Given the description of an element on the screen output the (x, y) to click on. 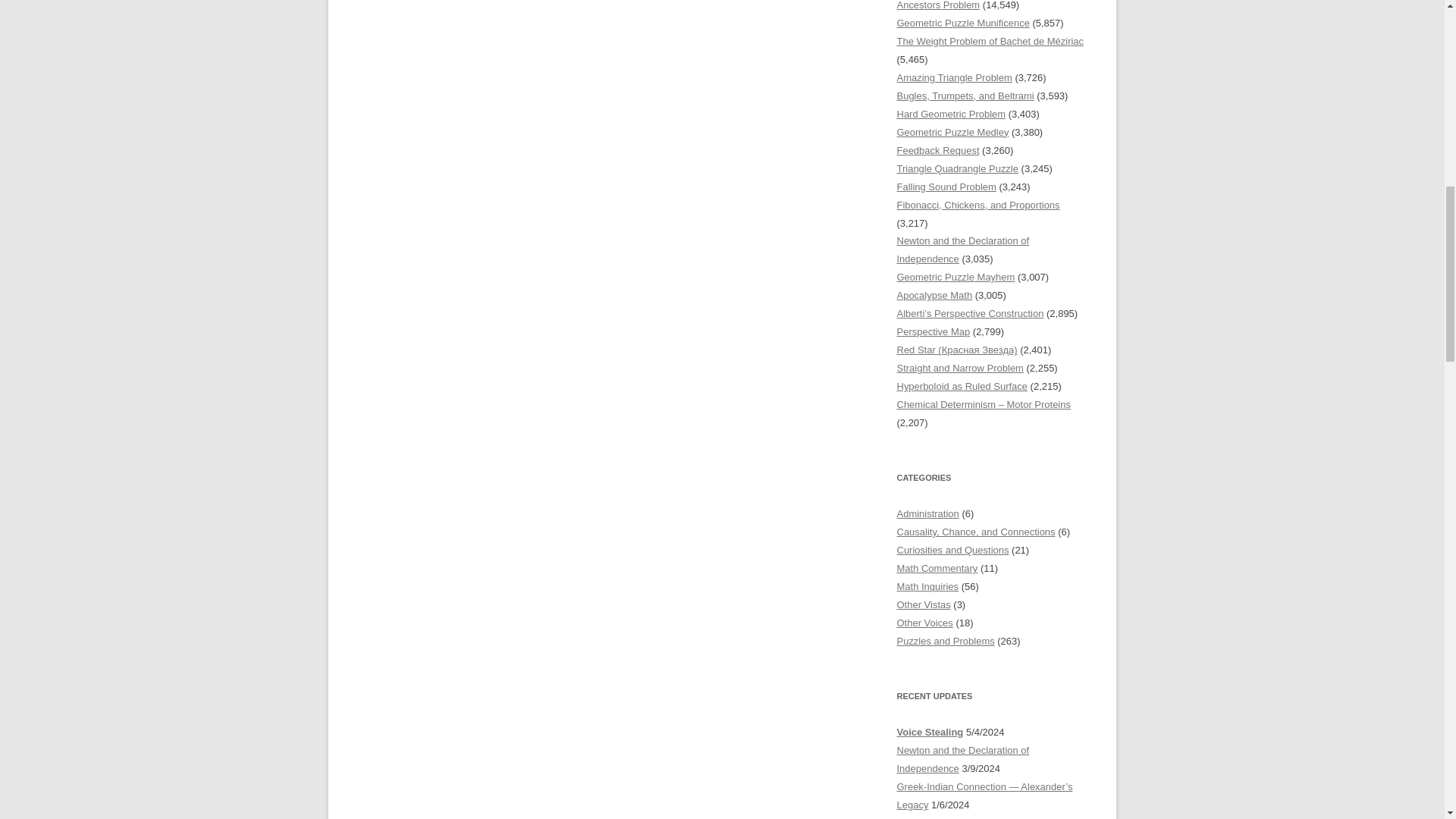
Triangle Quadrangle Puzzle (956, 168)
Hard Geometric Problem (951, 113)
Geometric Puzzle Medley (952, 132)
Geometric Puzzle Munificence (962, 22)
Bugles, Trumpets, and Beltrami (964, 95)
Feedback Request (937, 150)
Ancestors Problem (937, 5)
Amazing Triangle Problem (953, 77)
